Given the description of an element on the screen output the (x, y) to click on. 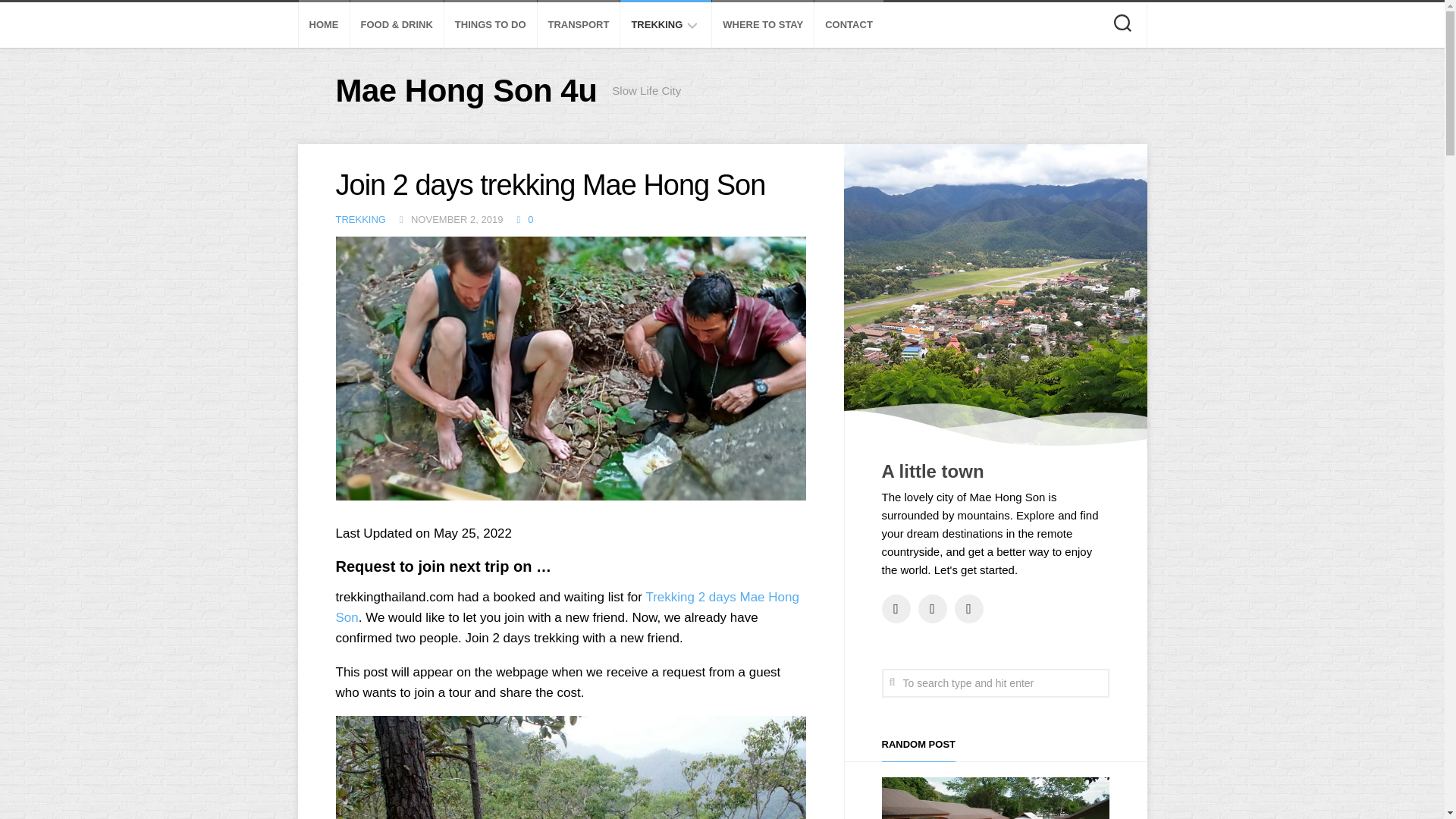
Trekking 2 days Mae Hong Son (565, 606)
TRANSPORT (577, 24)
Mae Hong Son 4u (465, 90)
Pinterest (967, 608)
Facebook (895, 608)
To search type and hit enter (994, 683)
Twitter (931, 608)
TREKKING (656, 24)
CONTACT (848, 24)
WHERE TO STAY (762, 24)
THINGS TO DO (489, 24)
To search type and hit enter (994, 683)
HOME (323, 24)
0 (522, 219)
TREKKING (359, 219)
